Given the description of an element on the screen output the (x, y) to click on. 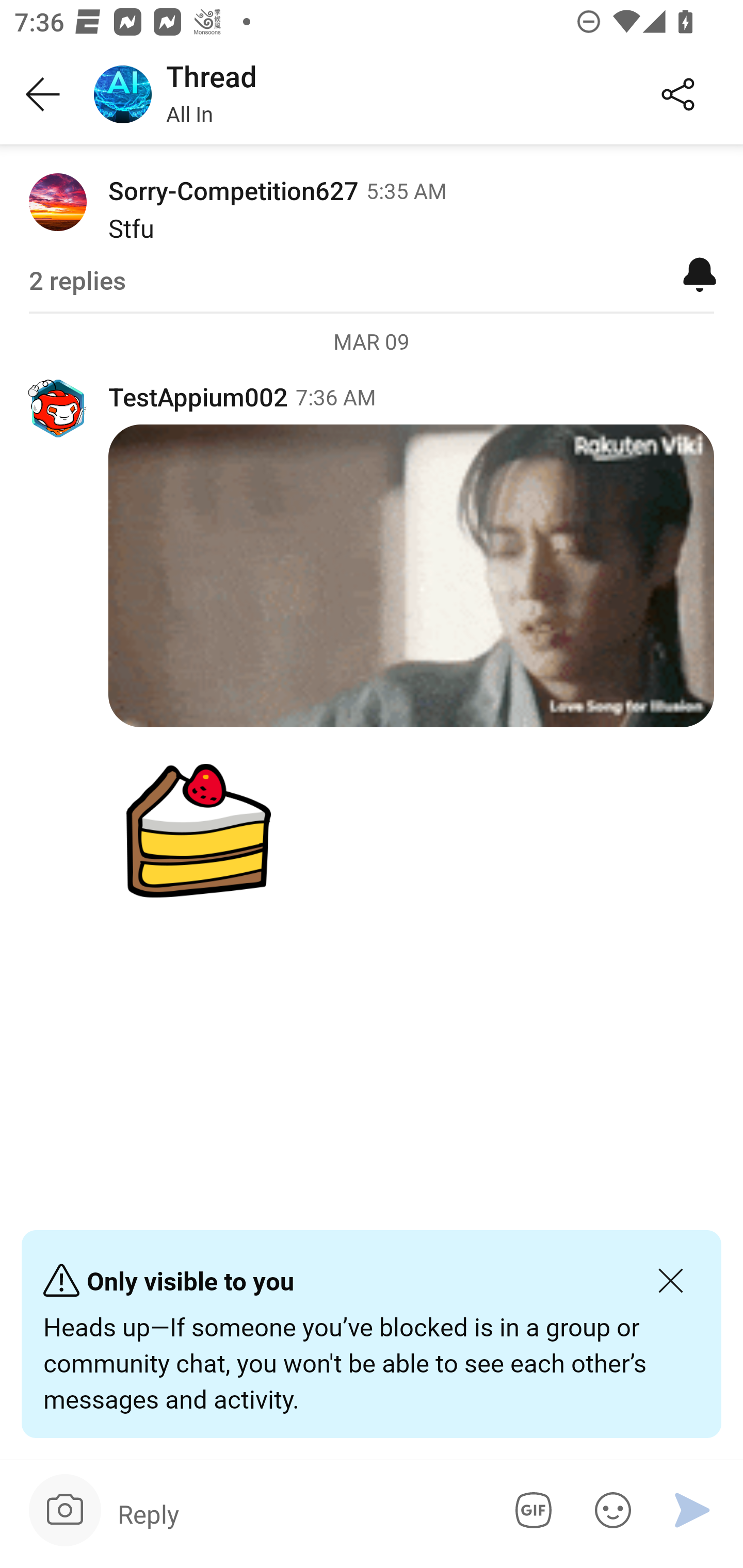
Back (43, 94)
Share (677, 94)
Mute (699, 273)
An image message (411, 575)
An image message (371, 830)
Upload image (64, 1510)
Add GIF (529, 1510)
Add sticker (609, 1510)
Send message (692, 1510)
Message Reply (298, 1513)
